Given the description of an element on the screen output the (x, y) to click on. 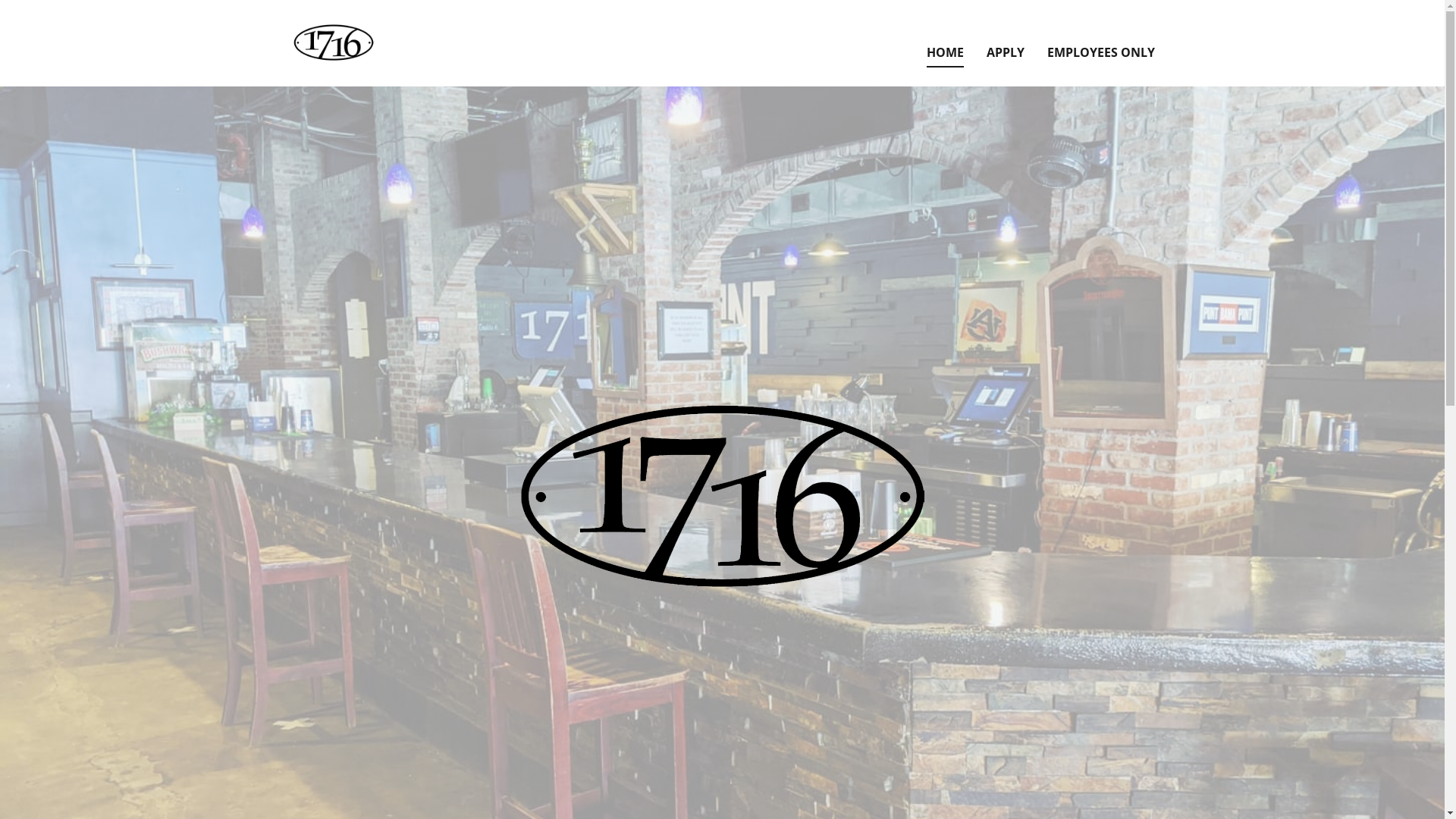
EMPLOYEES ONLY Element type: text (1100, 52)
APPLY Element type: text (1004, 52)
HOME Element type: text (944, 52)
